Given the description of an element on the screen output the (x, y) to click on. 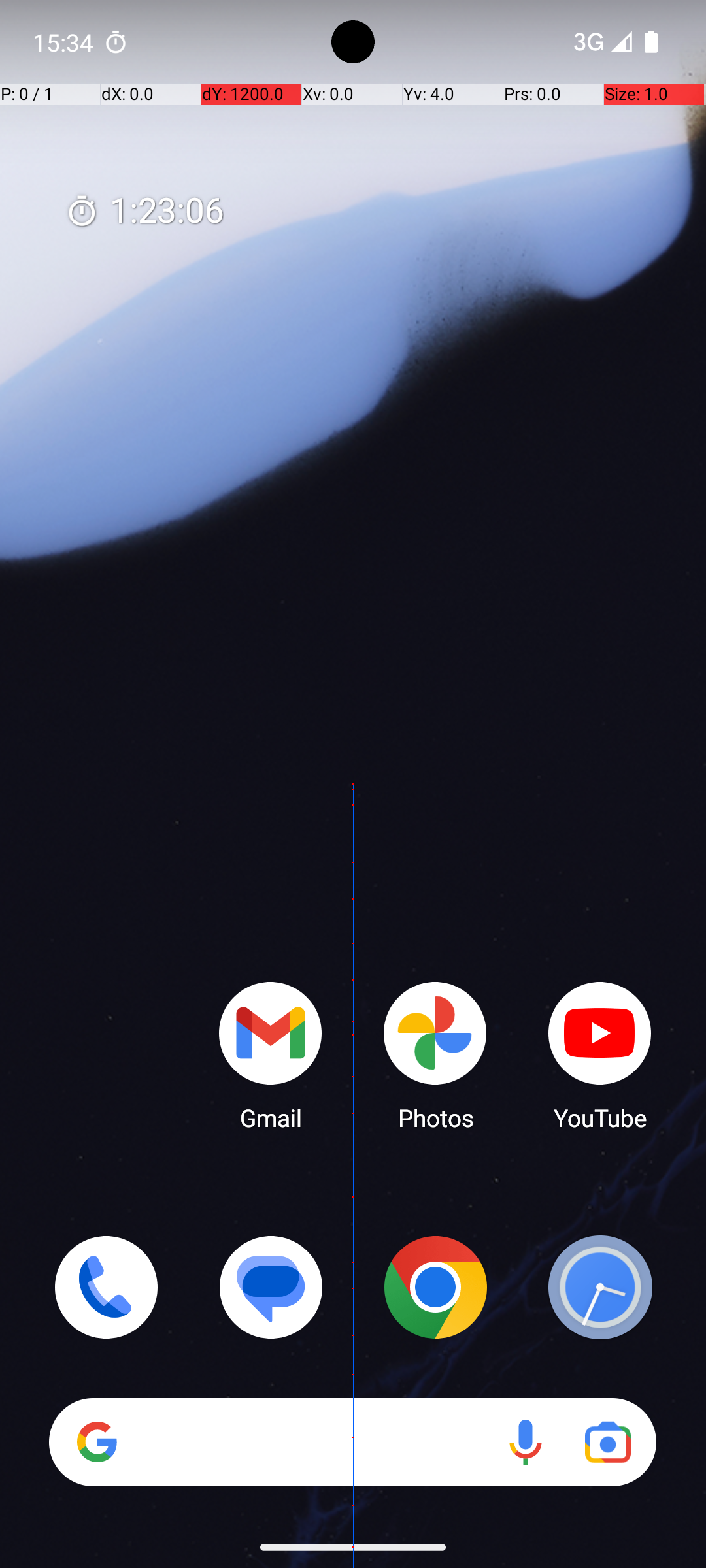
1:23:06 Element type: android.widget.TextView (144, 210)
